Given the description of an element on the screen output the (x, y) to click on. 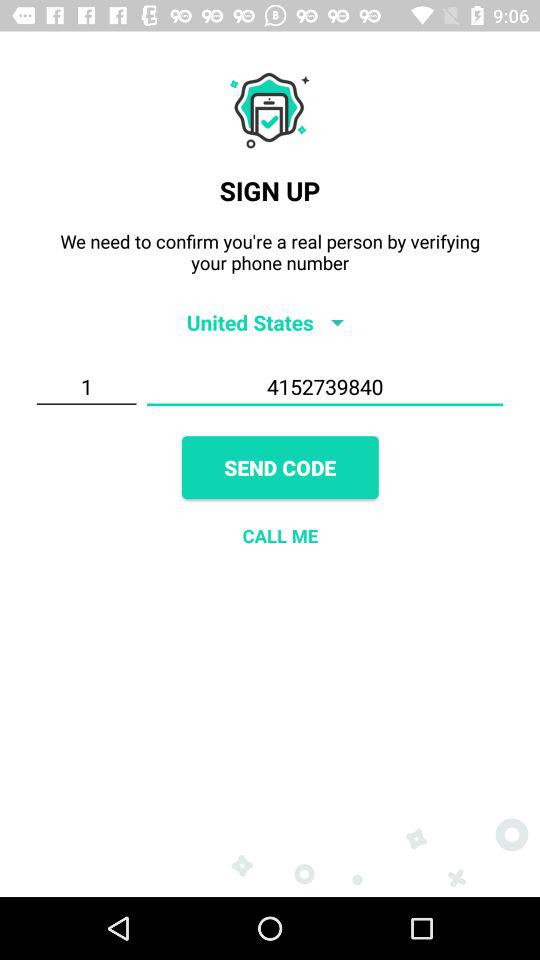
tap the 4152739840 item (324, 387)
